Given the description of an element on the screen output the (x, y) to click on. 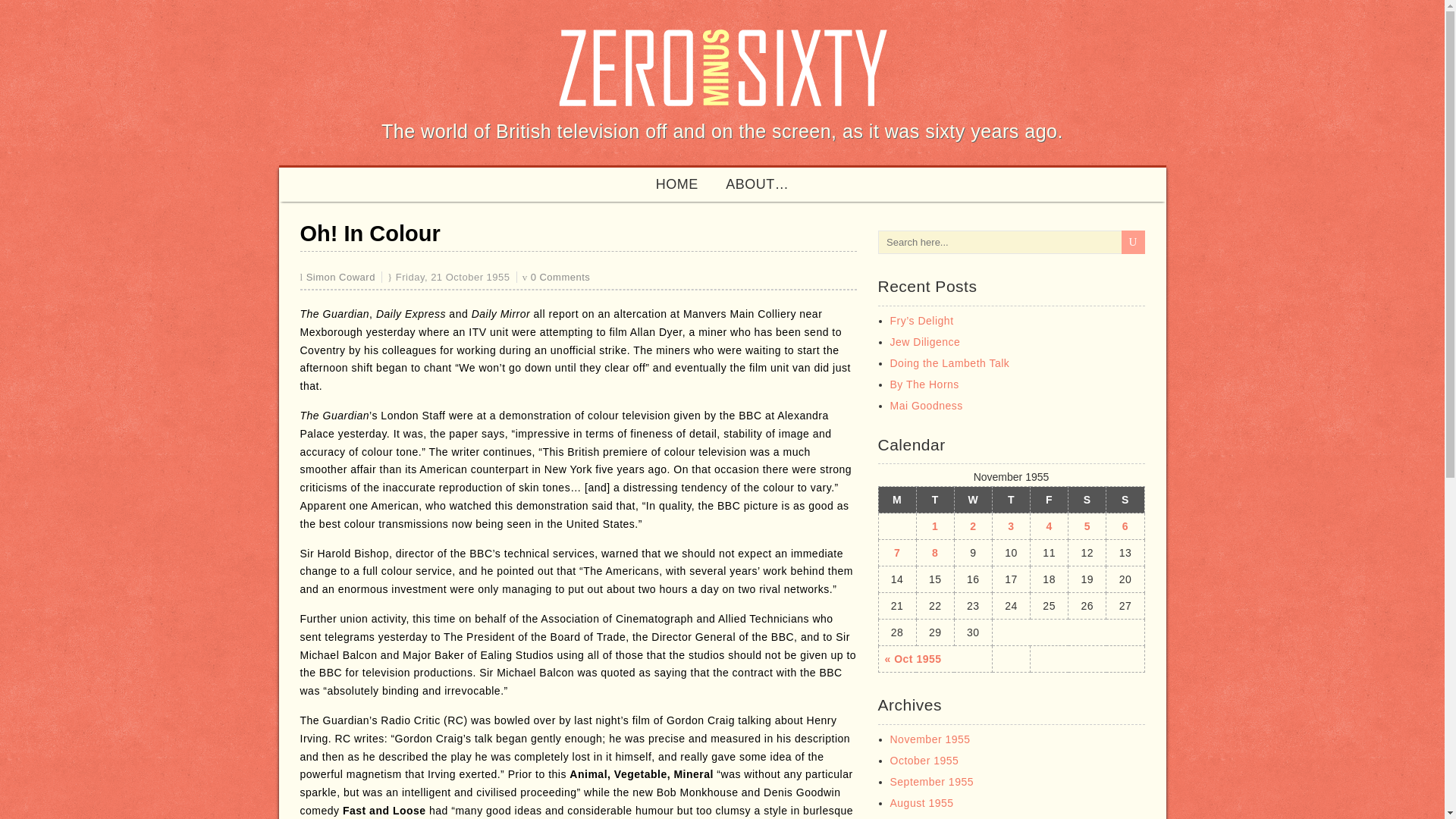
Sunday (1125, 499)
Posts by Simon Coward (340, 276)
Friday (1049, 499)
By The Horns (924, 384)
U (1132, 241)
September 1955 (931, 781)
Jew Diligence (924, 341)
Thursday (1010, 499)
July 1955 (914, 818)
0 Comments (561, 276)
Saturday (1087, 499)
Mai Goodness (925, 405)
Tuesday (934, 499)
Simon Coward (340, 276)
HOME (676, 184)
